Given the description of an element on the screen output the (x, y) to click on. 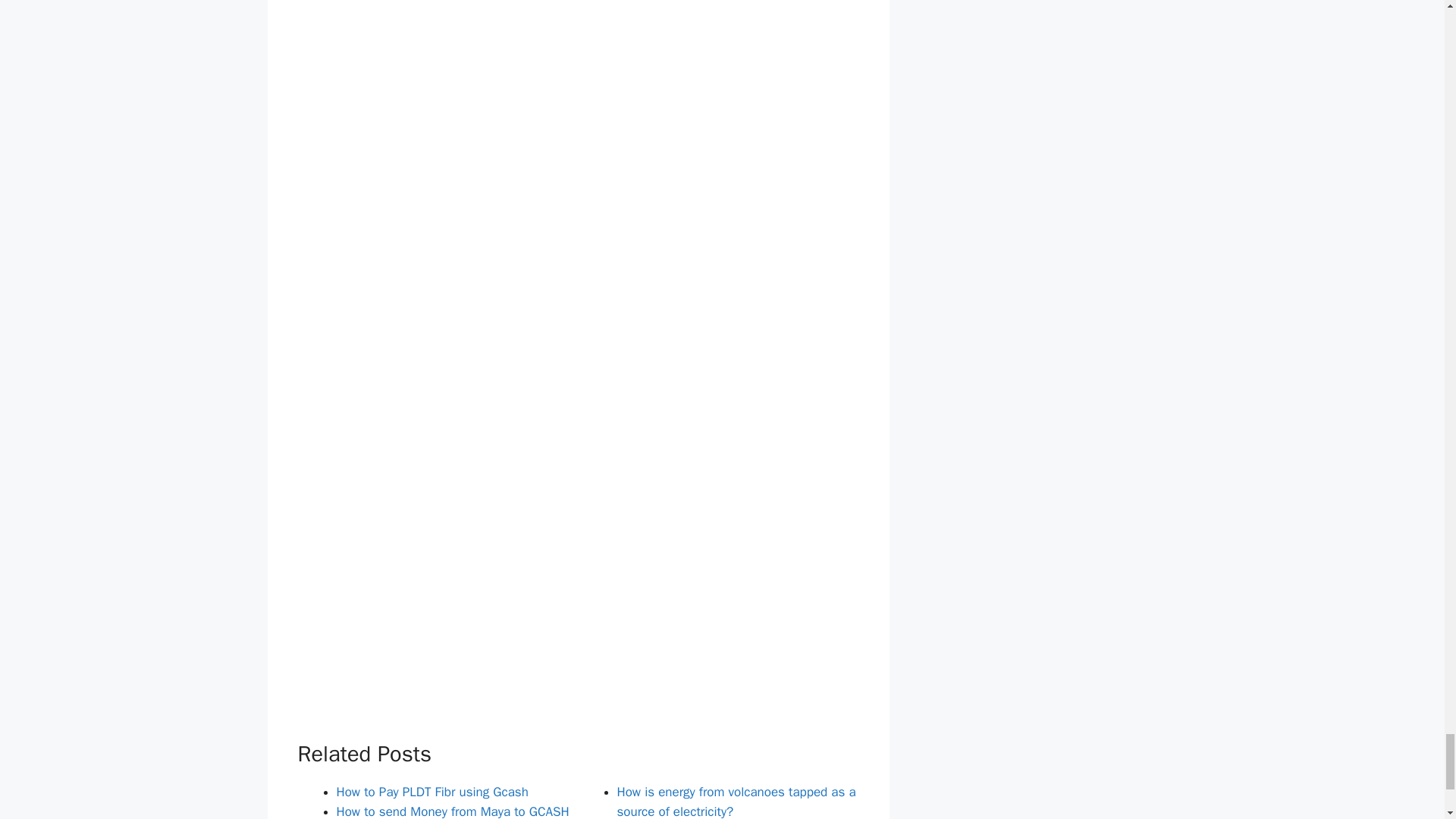
How to send Money from Maya to GCASH (452, 811)
How to Pay PLDT Fibr using Gcash (432, 791)
